Given the description of an element on the screen output the (x, y) to click on. 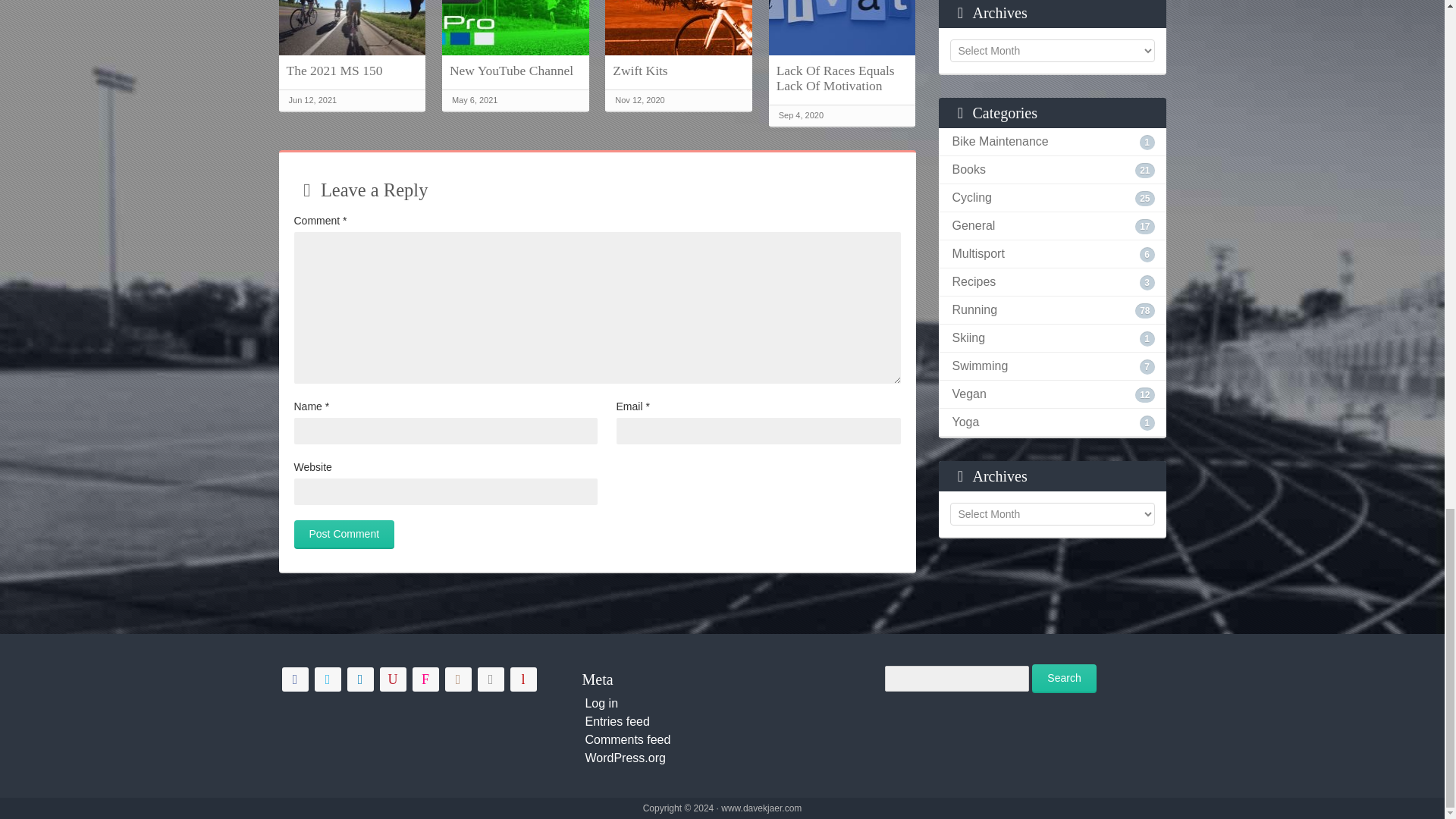
New YouTube Channel (514, 70)
Post Comment (344, 534)
The 2021 MS 150 (352, 70)
Zwift Kits (678, 70)
Lack Of Races Equals Lack Of Motivation (842, 78)
Search (1064, 678)
